Given the description of an element on the screen output the (x, y) to click on. 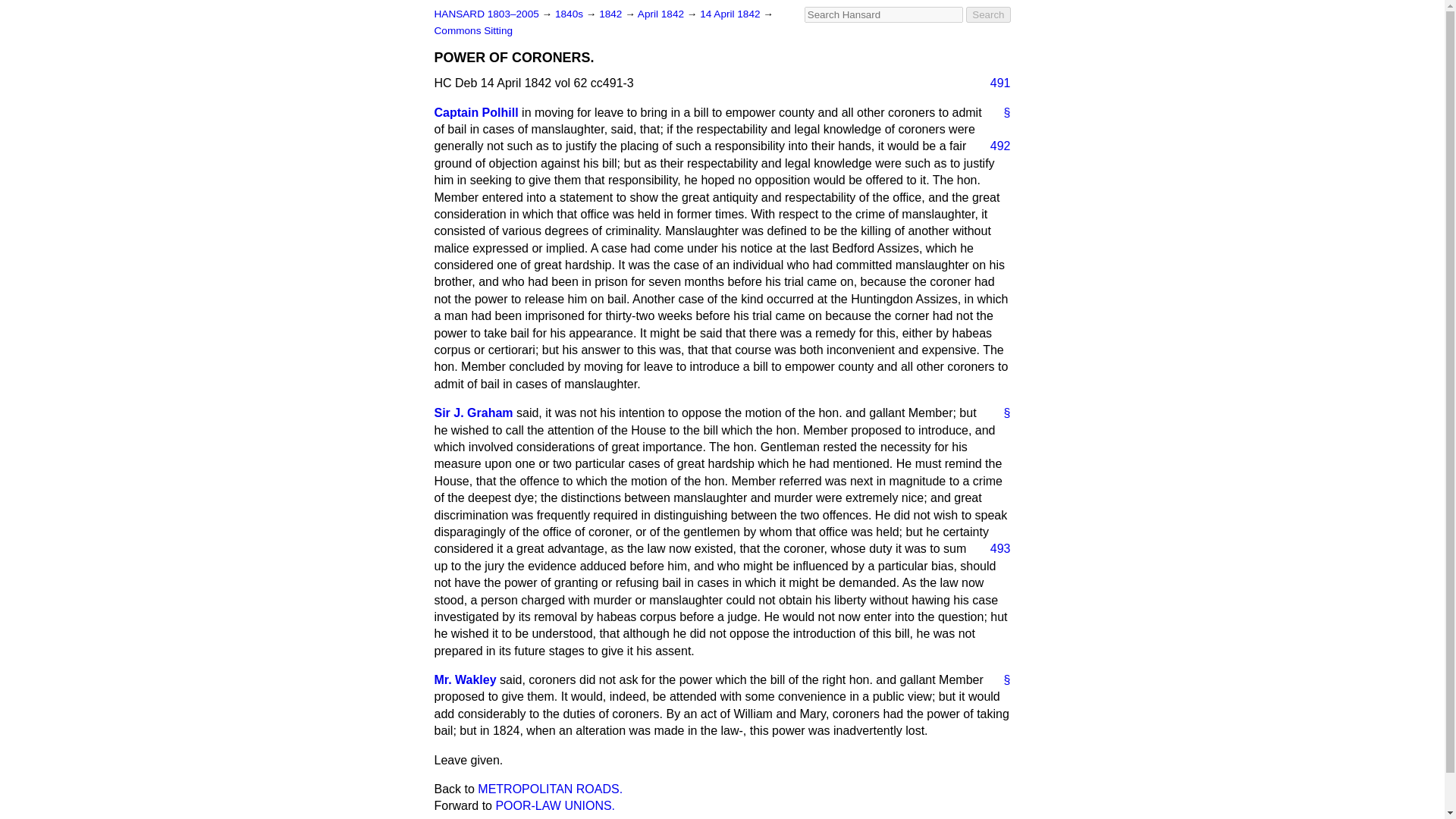
Sir J. Graham (472, 412)
14 April 1842 (731, 13)
April 1842 (662, 13)
Mr Frederick Polhill (475, 112)
Search (988, 14)
Commons Sitting (472, 30)
Mr. Wakley (464, 679)
Access key: S (883, 14)
Sir James Graham (472, 412)
492 (994, 146)
Link to this speech by Sir James Graham (1000, 412)
1842 (611, 13)
Search (988, 14)
1840s (570, 13)
Captain Polhill (475, 112)
